Given the description of an element on the screen output the (x, y) to click on. 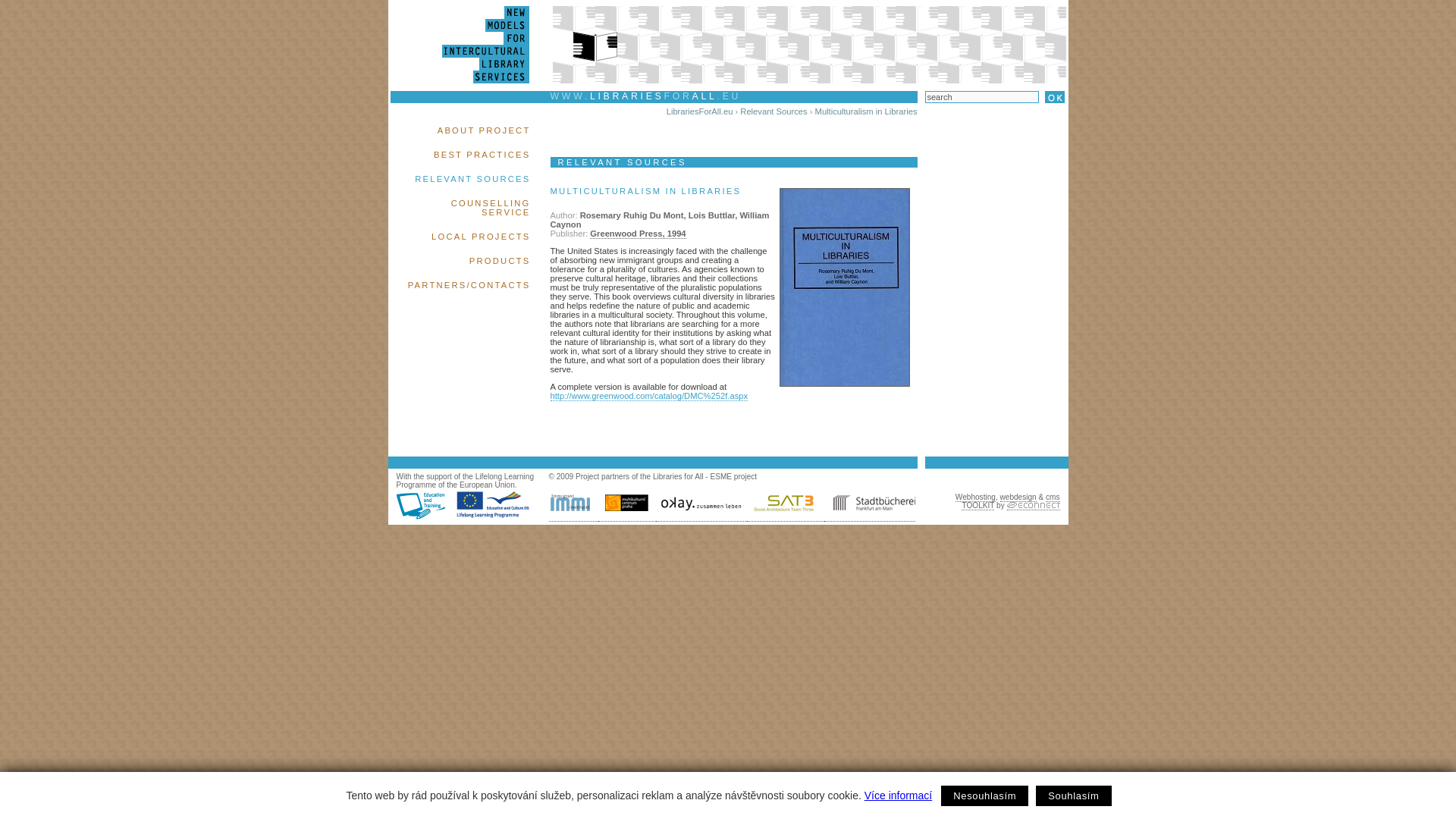
Relevant Sources (772, 111)
search (981, 96)
COUNSELLING SERVICE (491, 208)
search (981, 96)
webdesign (1016, 497)
BEST PRACTICES (482, 153)
ABOUT PROJECT (484, 130)
webdesign (1016, 497)
Webhosting (975, 497)
cms TOOLKIT (1009, 501)
